Given the description of an element on the screen output the (x, y) to click on. 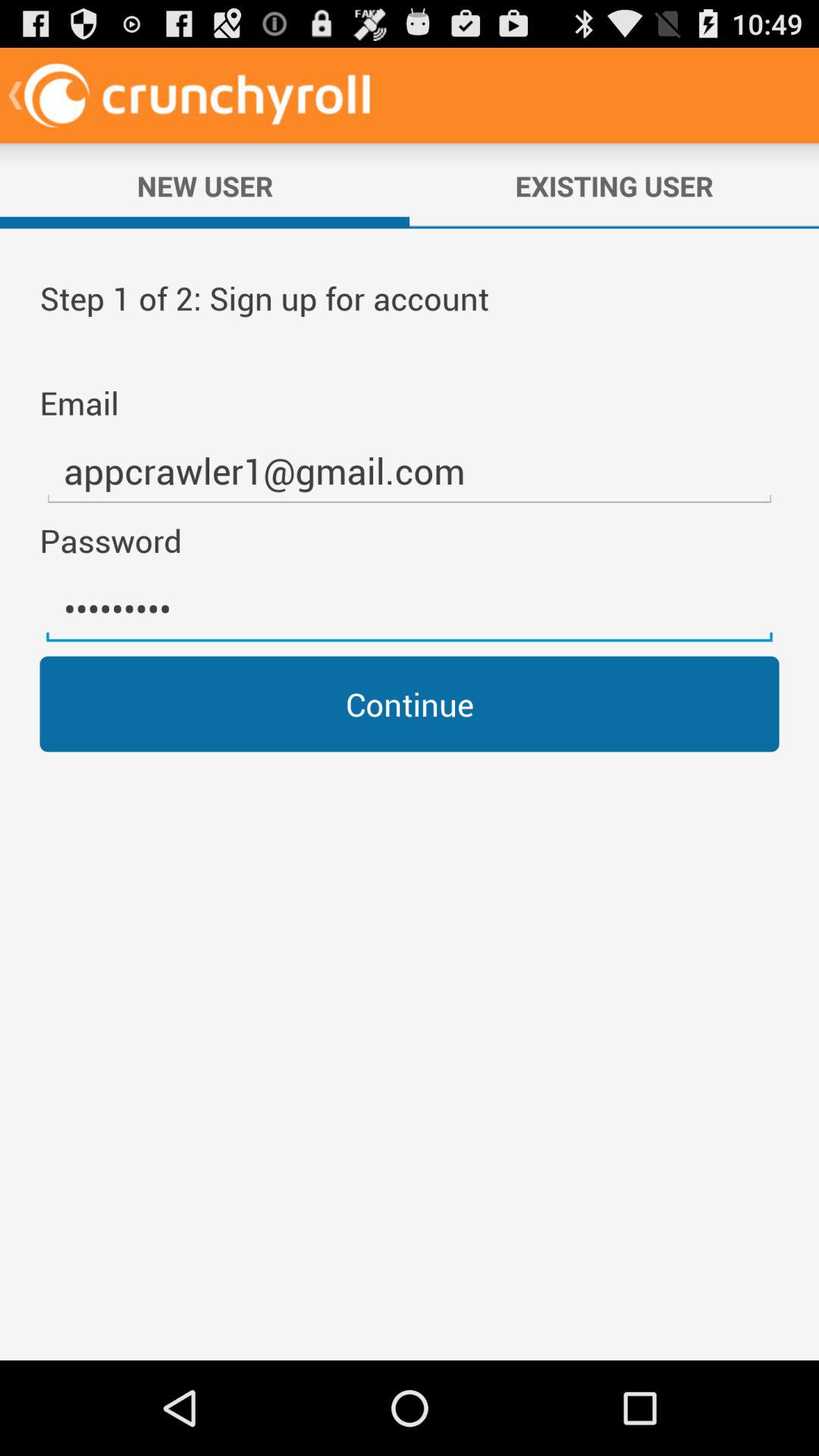
jump to the new user icon (204, 185)
